Given the description of an element on the screen output the (x, y) to click on. 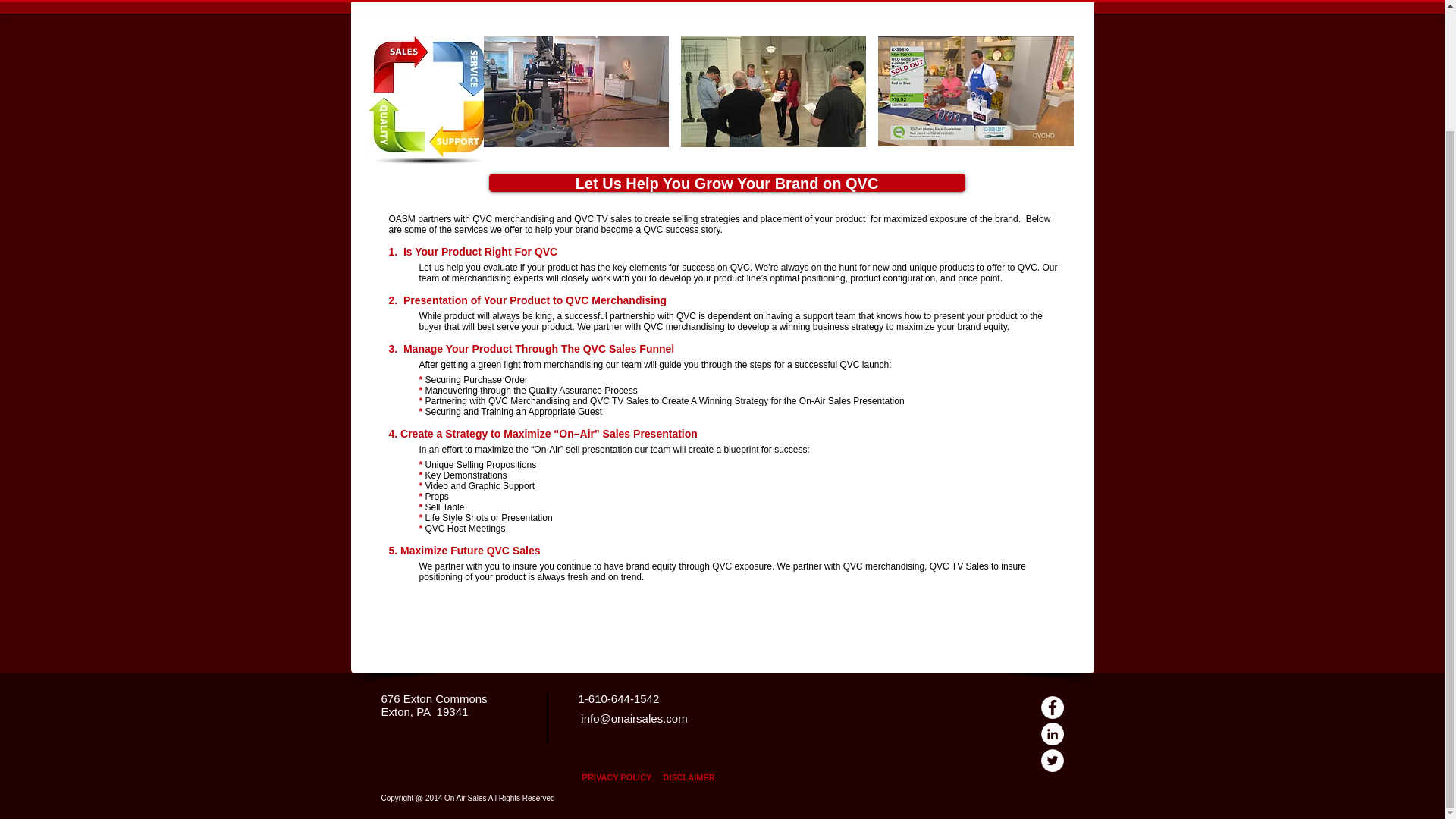
PRIVACY POLICY (615, 777)
Exton, PA (404, 711)
19341 (452, 711)
DISCLAIMER (688, 777)
